Given the description of an element on the screen output the (x, y) to click on. 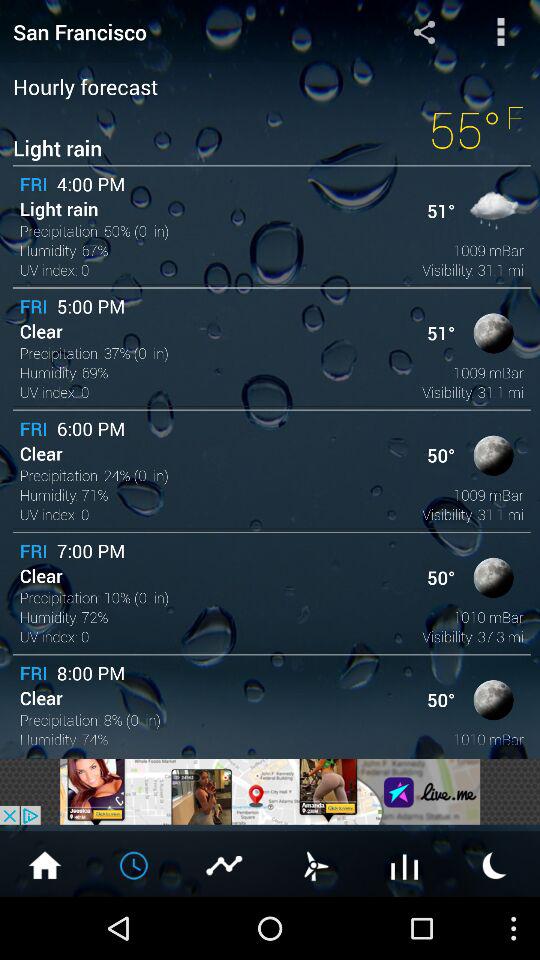
night mode (495, 864)
